Given the description of an element on the screen output the (x, y) to click on. 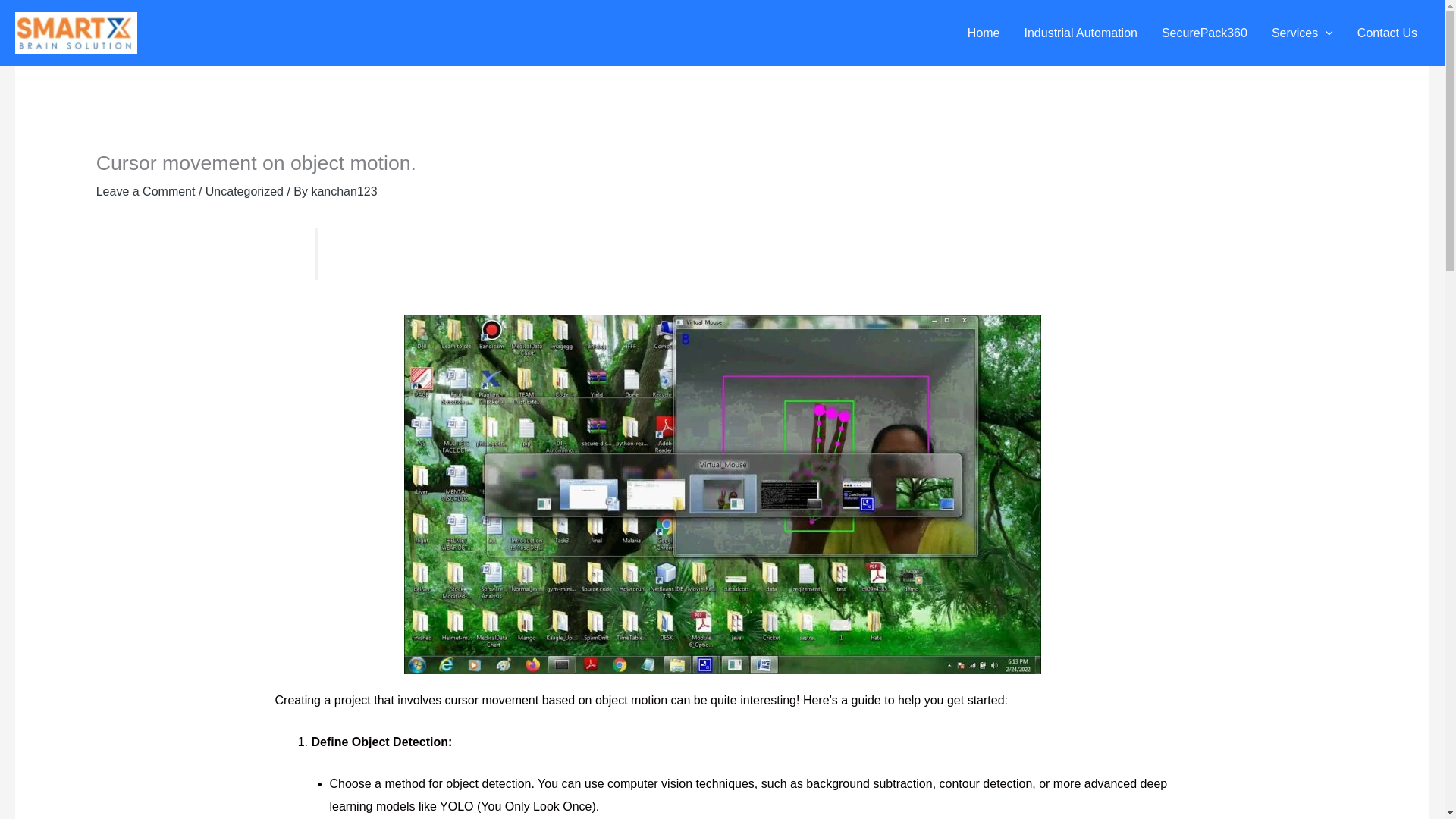
Industrial Automation (1080, 33)
Services (1302, 33)
View all posts by kanchan123 (344, 191)
kanchan123 (344, 191)
Uncategorized (244, 191)
Leave a Comment (145, 191)
Contact Us (1387, 33)
SecurePack360 (1204, 33)
Home (983, 33)
